Given the description of an element on the screen output the (x, y) to click on. 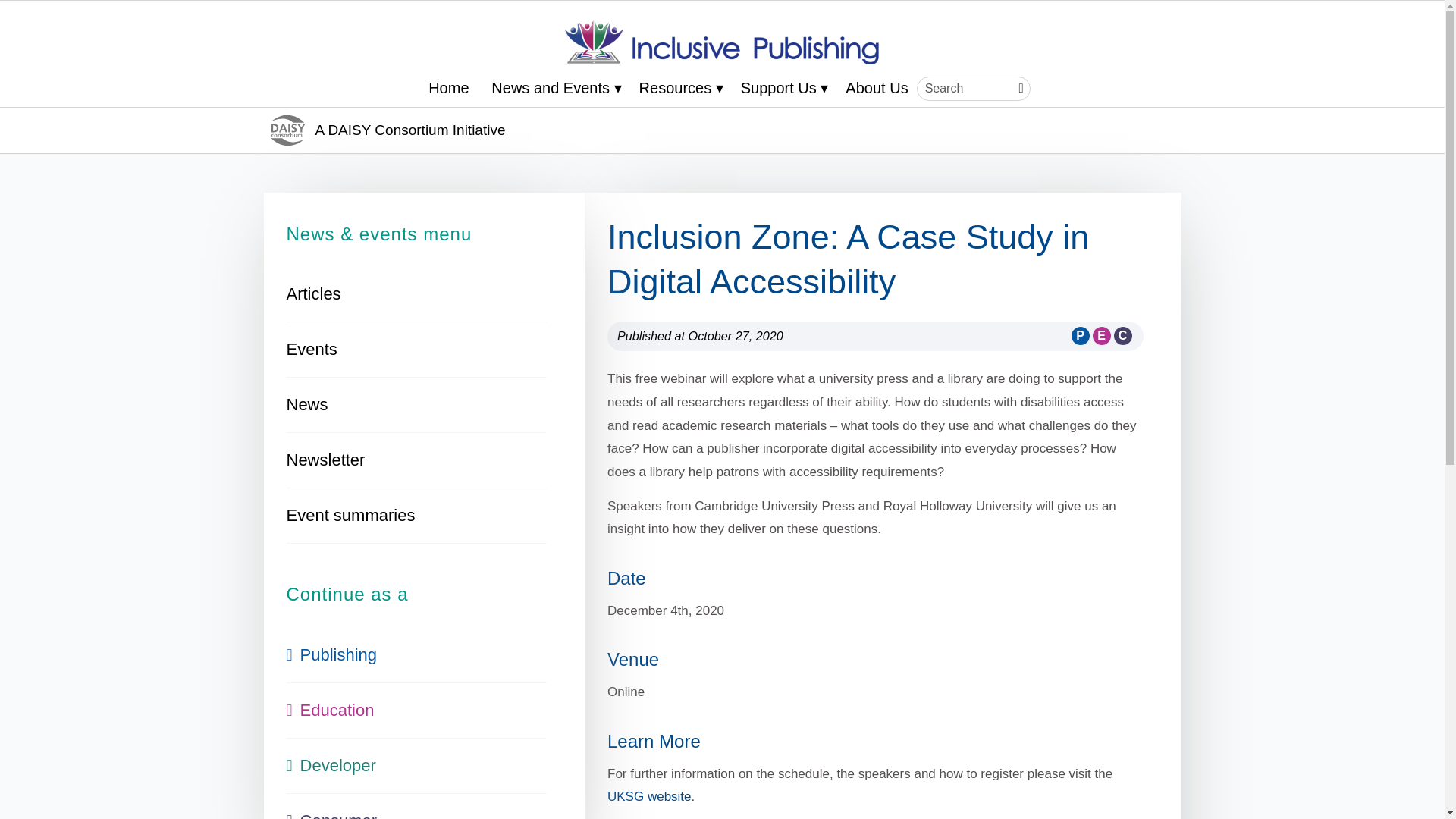
About Us (875, 87)
News and Events (554, 87)
Resources (681, 87)
UKSG website (649, 796)
Article is for publishers, educators and consumers (1100, 332)
Home (447, 87)
Support Us (784, 87)
A DAISY Consortium Initiative (288, 130)
